Given the description of an element on the screen output the (x, y) to click on. 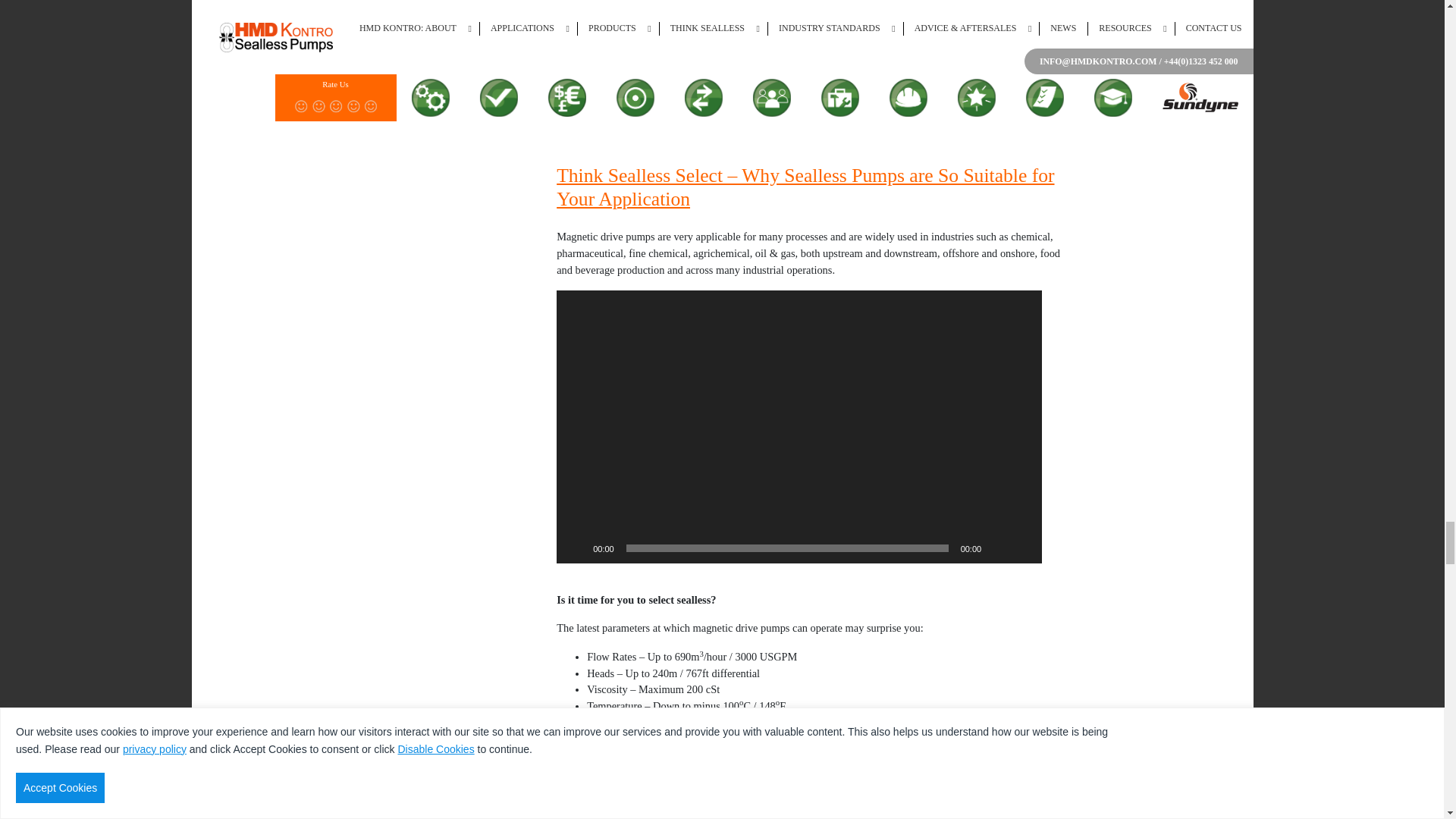
Fullscreen (1021, 548)
Mute (998, 548)
Play (576, 548)
